Given the description of an element on the screen output the (x, y) to click on. 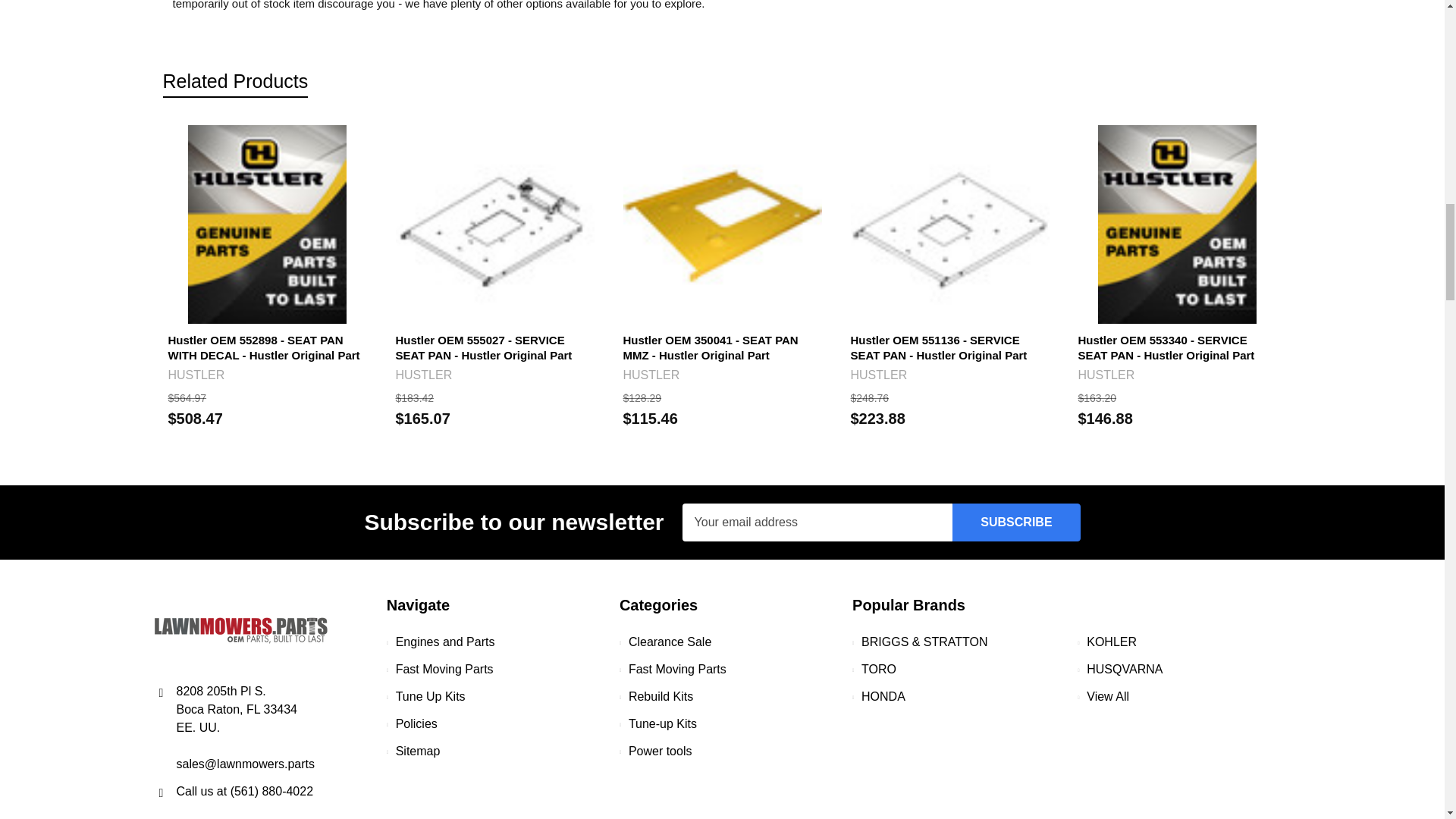
LawnMowers.Parts (239, 629)
Subscribe (1016, 522)
Hustler OEM 350041 - SEAT PAN MMZ - Image 1 (722, 224)
Hustler OEM 555027 - SVC SEAT PAN - Image 1 (495, 224)
Hustler OEM 551136 - SEAT PAN SERVICE - Image 1 (949, 224)
